Given the description of an element on the screen output the (x, y) to click on. 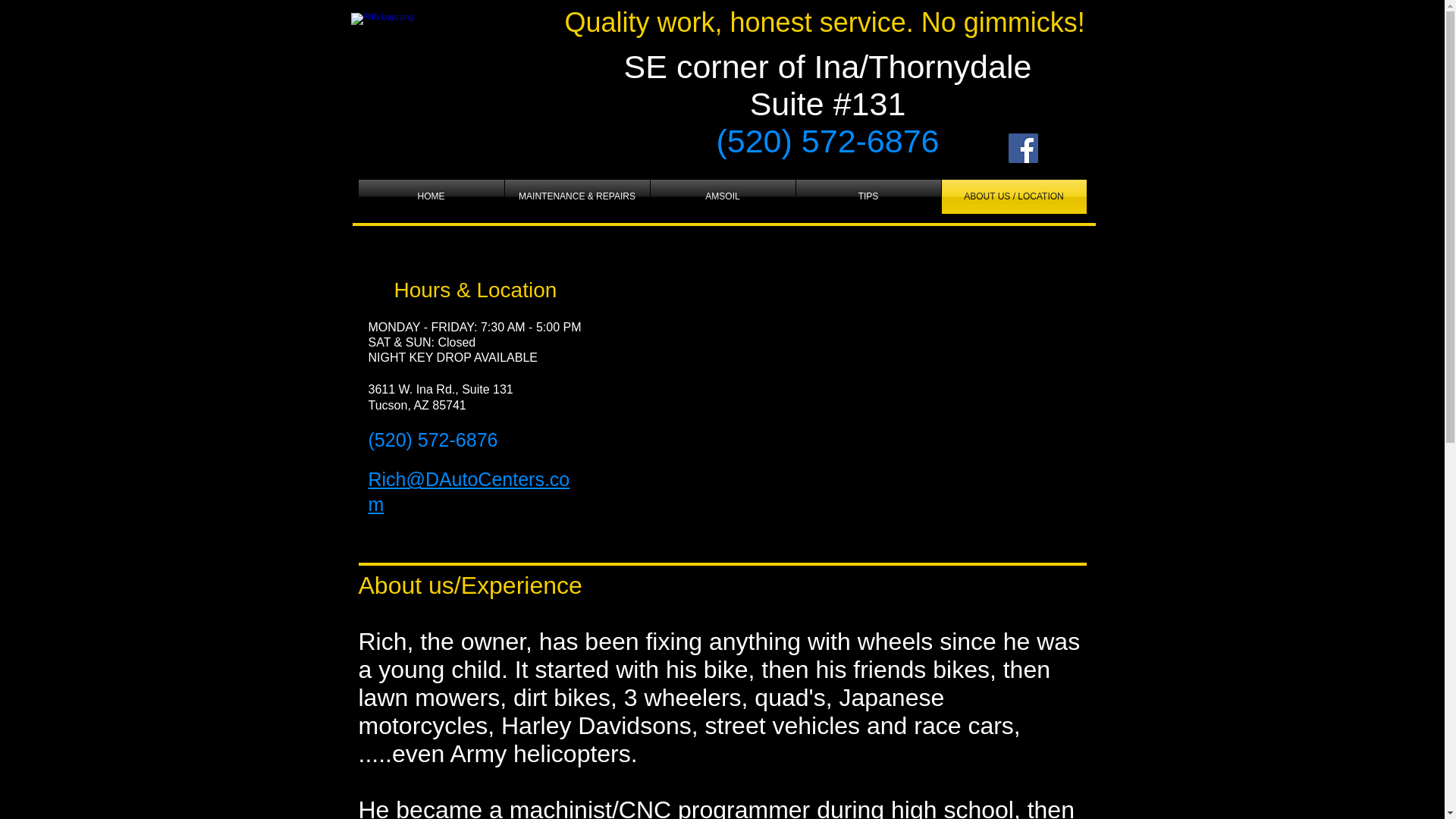
TIPS (868, 196)
HOME (430, 196)
AMSOIL (722, 196)
